Given the description of an element on the screen output the (x, y) to click on. 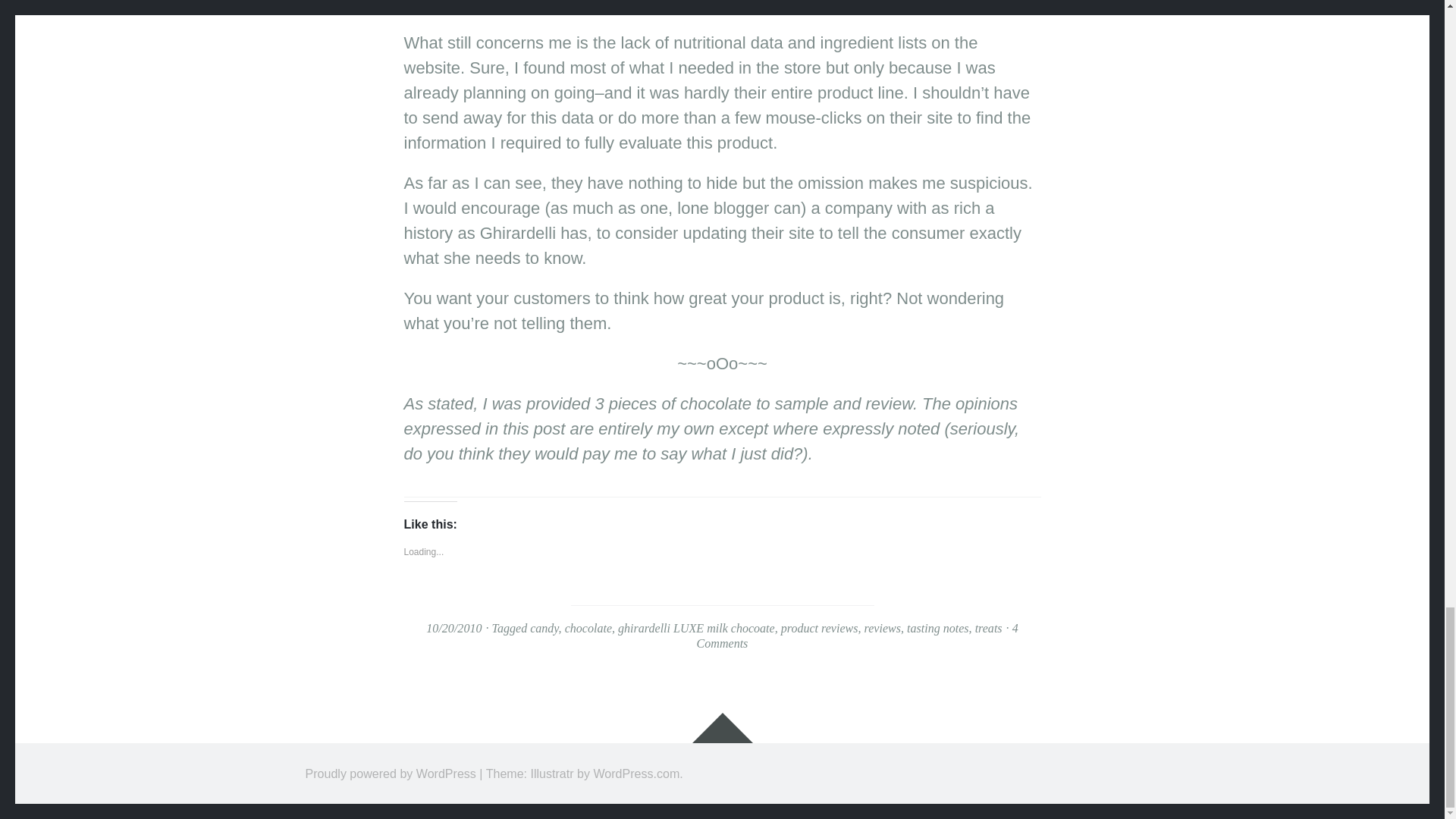
4 Comments (857, 635)
treats (989, 627)
ghirardelli LUXE milk chocoate (695, 627)
chocolate (587, 627)
product reviews (819, 627)
Widgets (721, 727)
reviews (882, 627)
candy (543, 627)
tasting notes (938, 627)
